Given the description of an element on the screen output the (x, y) to click on. 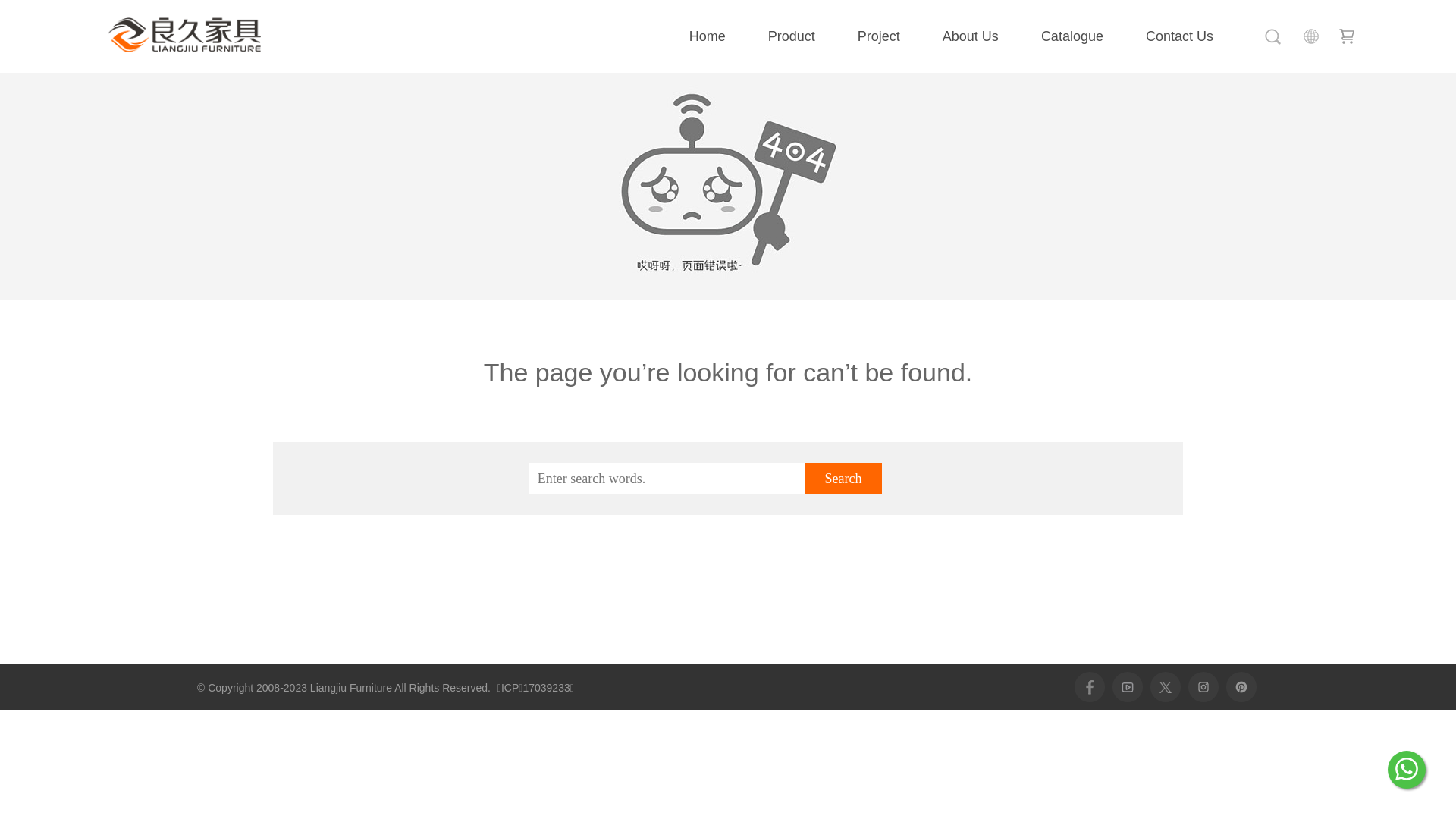
About Us Element type: text (970, 36)
Search Element type: text (843, 478)
Product Element type: text (791, 36)
Project Element type: text (878, 36)
Liangjiu Furniture Element type: hover (183, 34)
Home Element type: text (707, 36)
Contact Us Element type: text (1179, 36)
Catalogue Element type: text (1072, 36)
